Given the description of an element on the screen output the (x, y) to click on. 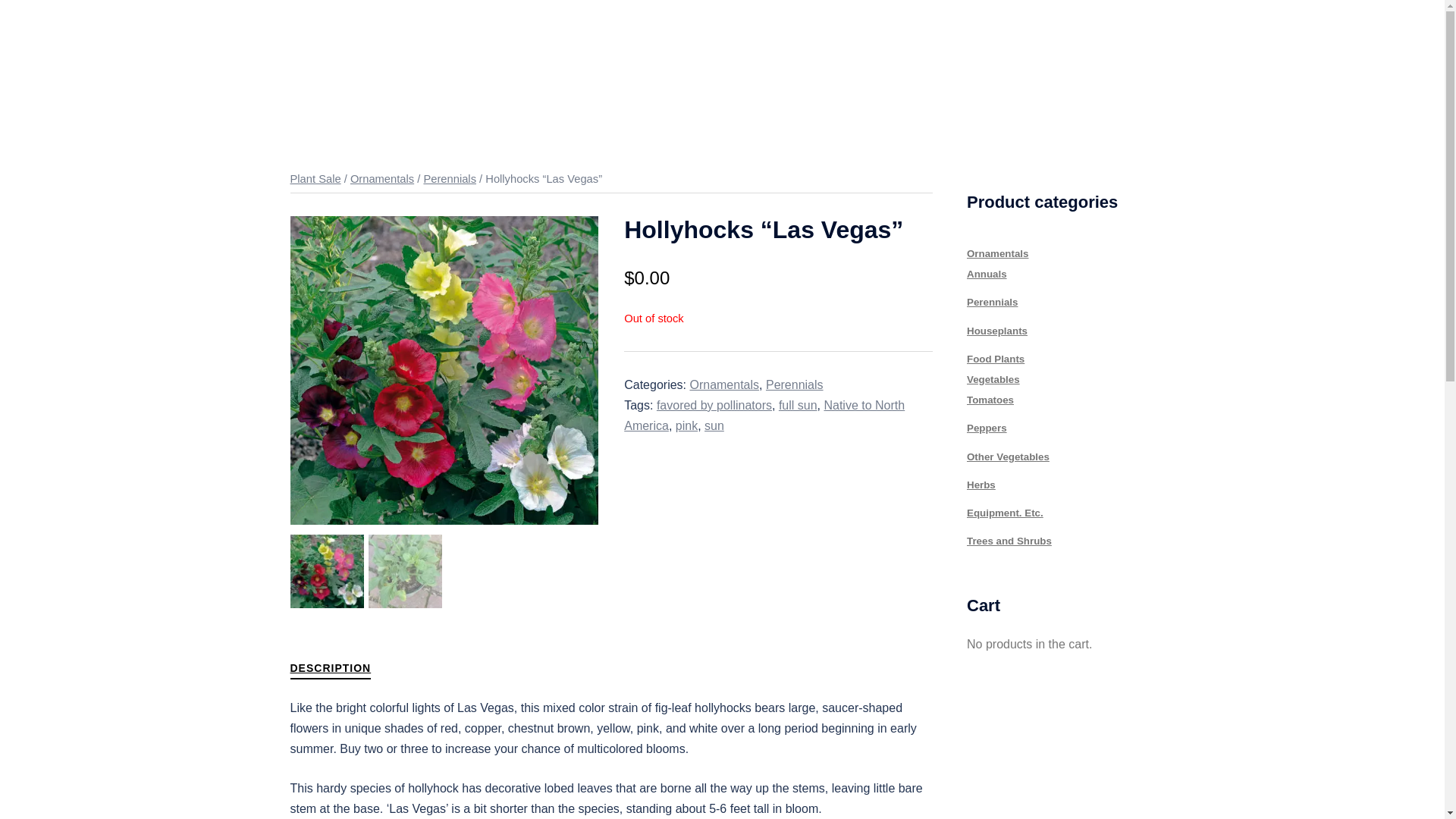
Perennials (991, 301)
DESCRIPTION (330, 670)
pink (686, 425)
Annuals (986, 274)
Ornamentals (381, 178)
Give (1034, 60)
Plant Sale (314, 178)
Ornamentals (996, 253)
About (812, 60)
favored by pollinators (713, 404)
holllyhocks (443, 370)
Home (752, 60)
Membership (955, 60)
Houseplants (996, 330)
Perennials (794, 384)
